Given the description of an element on the screen output the (x, y) to click on. 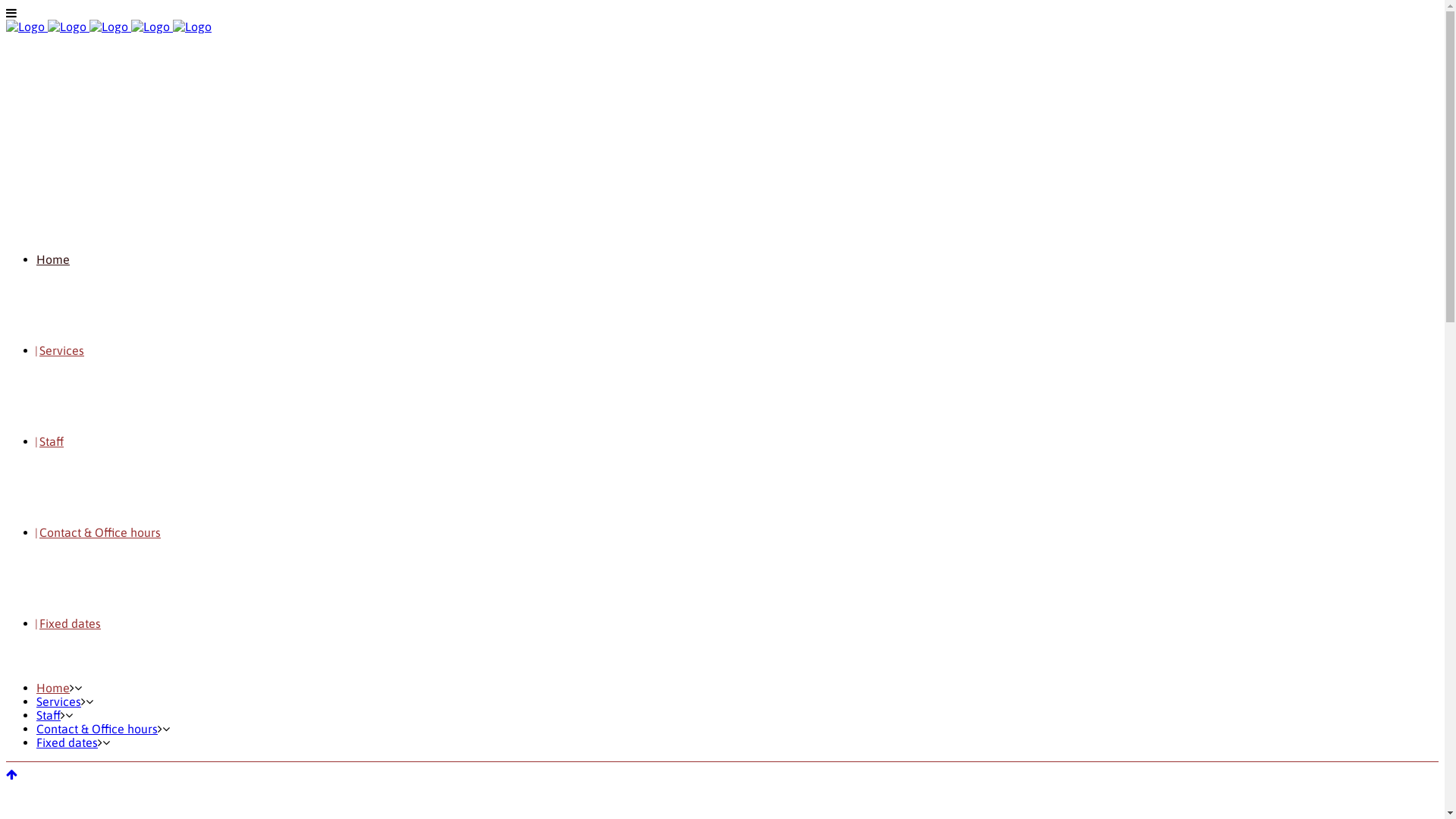
Staff Element type: text (51, 441)
Fixed dates Element type: text (69, 623)
Contact & Office hours Element type: text (96, 728)
Services Element type: text (61, 350)
Services Element type: text (58, 701)
Fixed dates Element type: text (66, 742)
Home Element type: text (52, 687)
Home Element type: text (52, 259)
Staff Element type: text (48, 714)
Contact & Office hours Element type: text (99, 532)
